Given the description of an element on the screen output the (x, y) to click on. 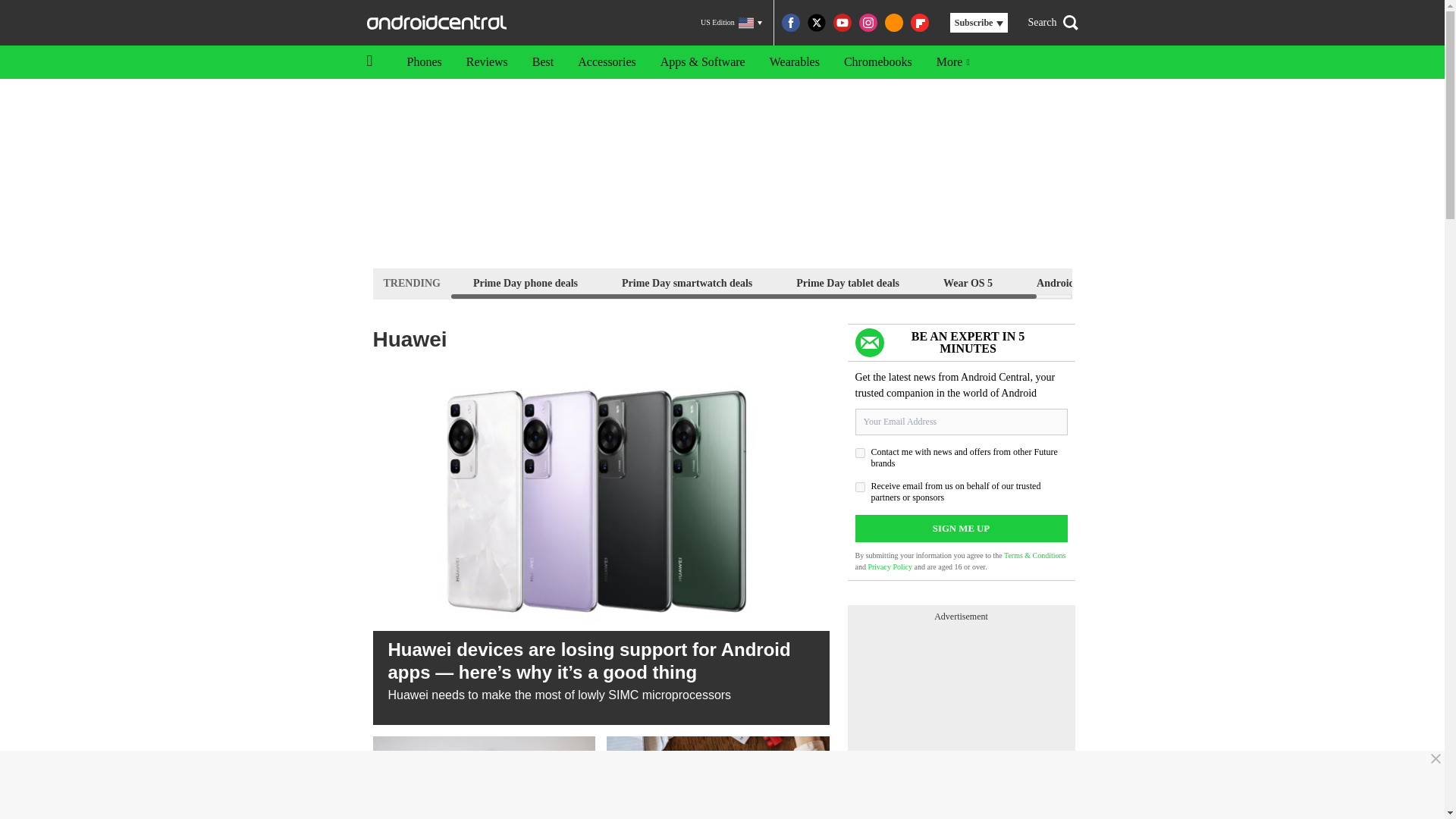
Reviews (486, 61)
Phones (423, 61)
Chromebooks (877, 61)
Wearables (794, 61)
Prime Day tablet deals (847, 282)
Android 15 (1061, 282)
Wear OS 5 (967, 282)
US Edition (731, 22)
Accessories (606, 61)
Prime Day phone deals (525, 282)
Sign me up (961, 528)
Best (542, 61)
Prime Day smartwatch deals (686, 282)
